Given the description of an element on the screen output the (x, y) to click on. 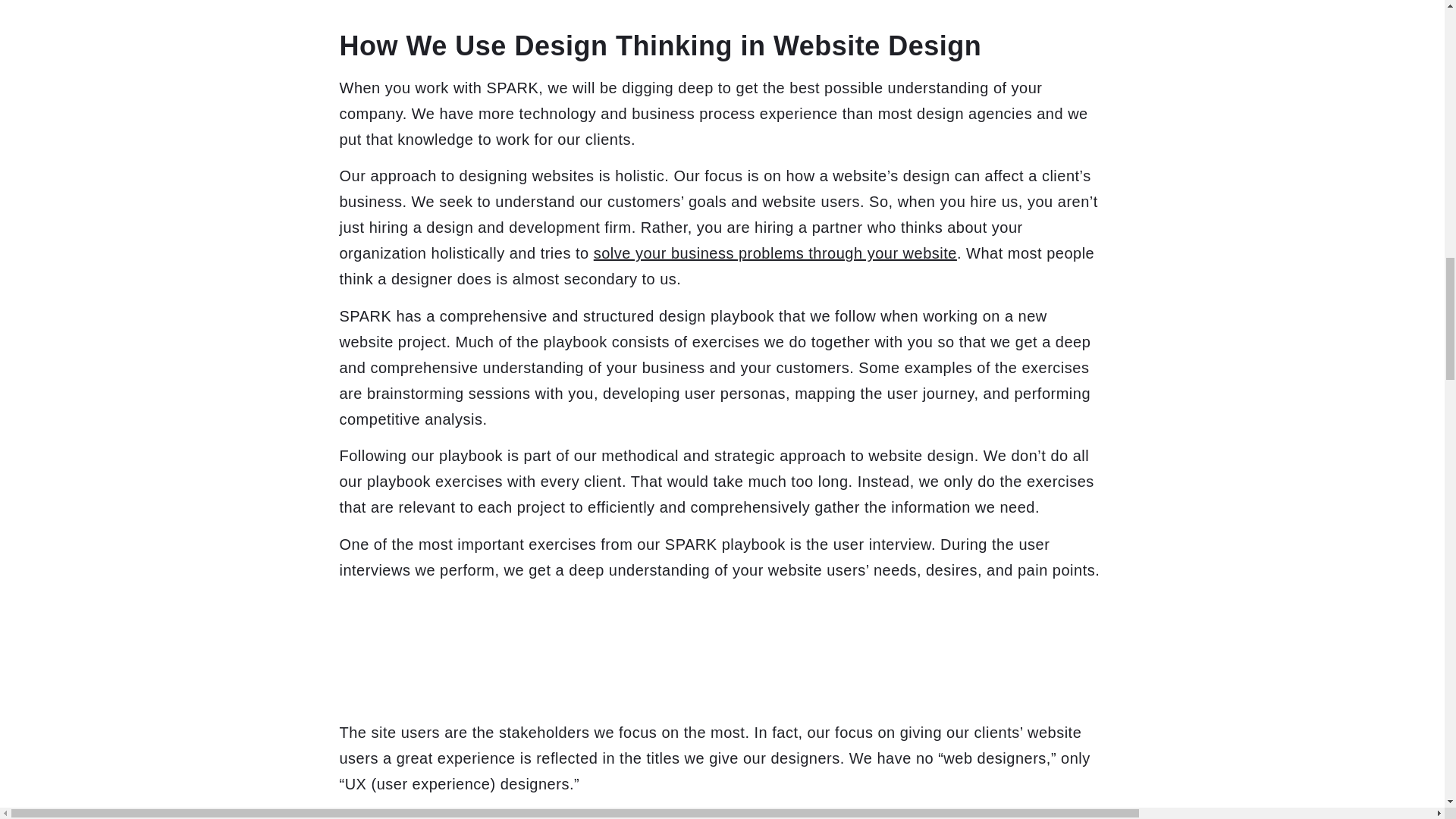
solve your business problems through your website (775, 252)
